Given the description of an element on the screen output the (x, y) to click on. 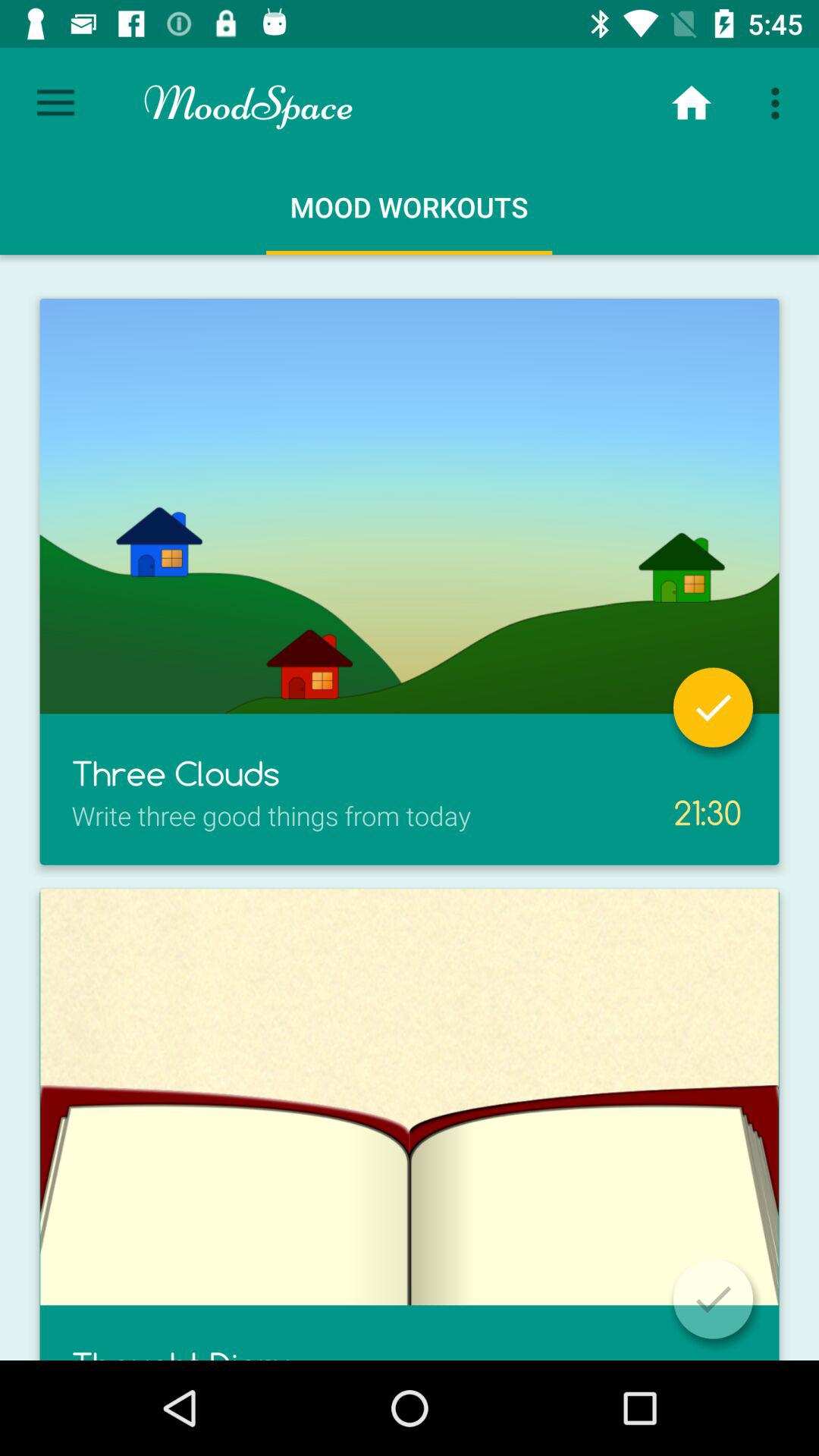
place to select check mark for something (713, 707)
